Given the description of an element on the screen output the (x, y) to click on. 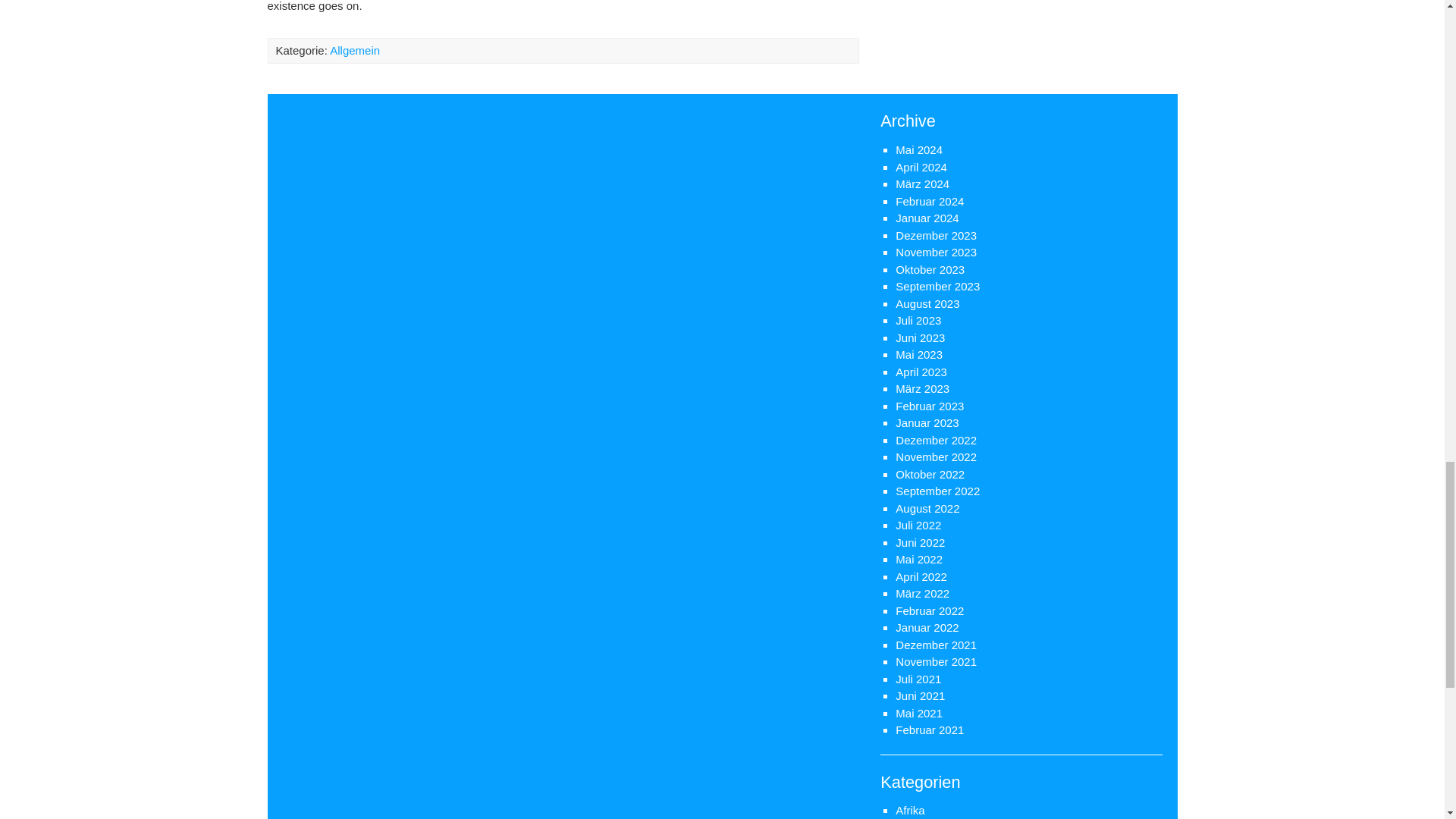
August 2023 (927, 303)
Januar 2023 (926, 422)
November 2023 (935, 251)
Dezember 2023 (935, 235)
Mai 2024 (918, 149)
September 2023 (937, 286)
April 2023 (921, 371)
Mai 2023 (918, 354)
Januar 2024 (926, 217)
April 2024 (921, 166)
